Given the description of an element on the screen output the (x, y) to click on. 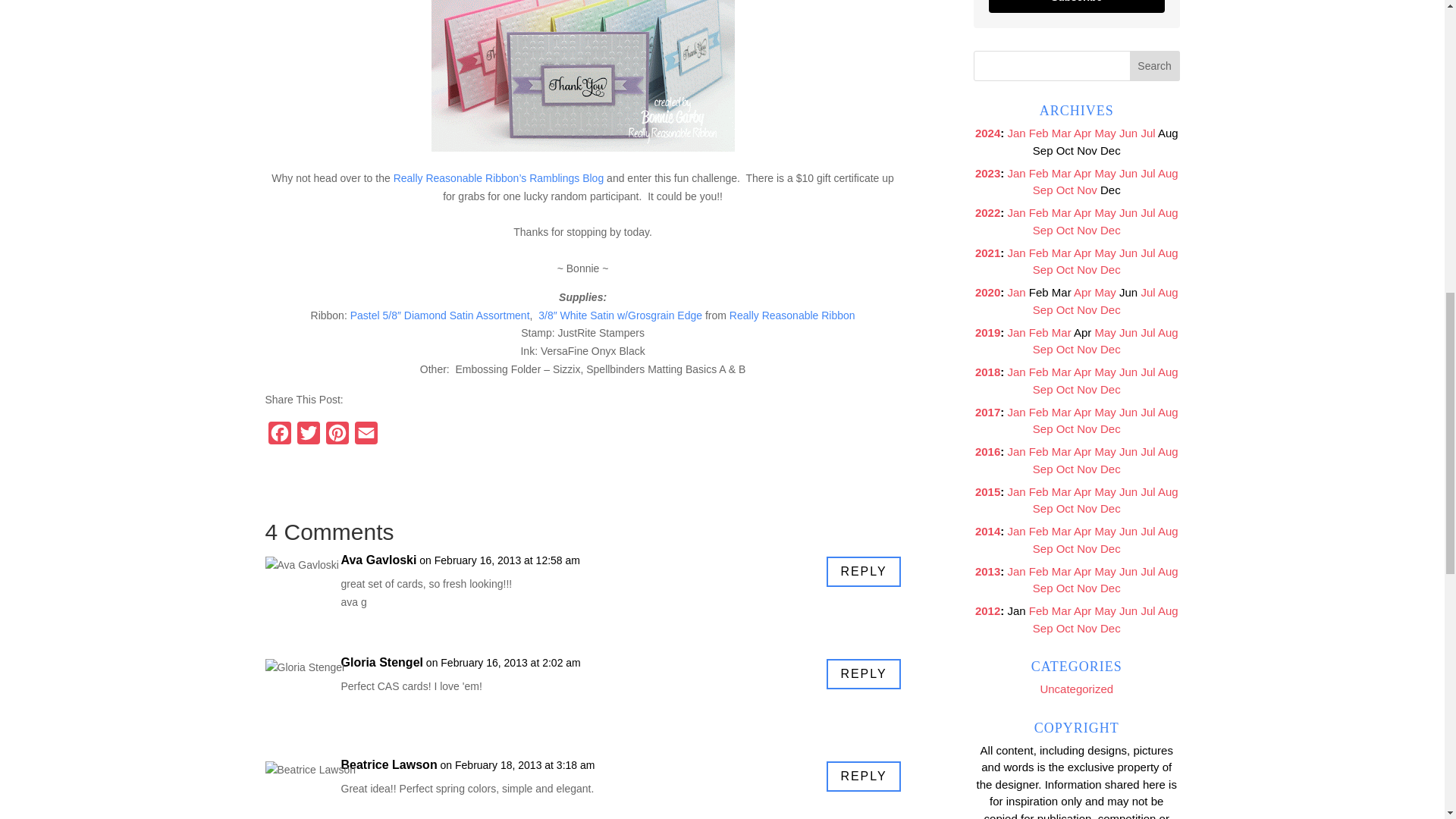
Search (1154, 65)
July 2001 (1147, 132)
March 2001 (1061, 132)
Facebook (279, 436)
Twitter (308, 436)
Pinterest (337, 436)
February 2001 (1038, 132)
Really Reasonable Ribbon (792, 315)
Twitter (308, 436)
May 2001 (1105, 132)
April 2001 (1082, 132)
January 2001 (1016, 173)
June 2001 (1128, 132)
Email (366, 436)
Facebook (279, 436)
